Given the description of an element on the screen output the (x, y) to click on. 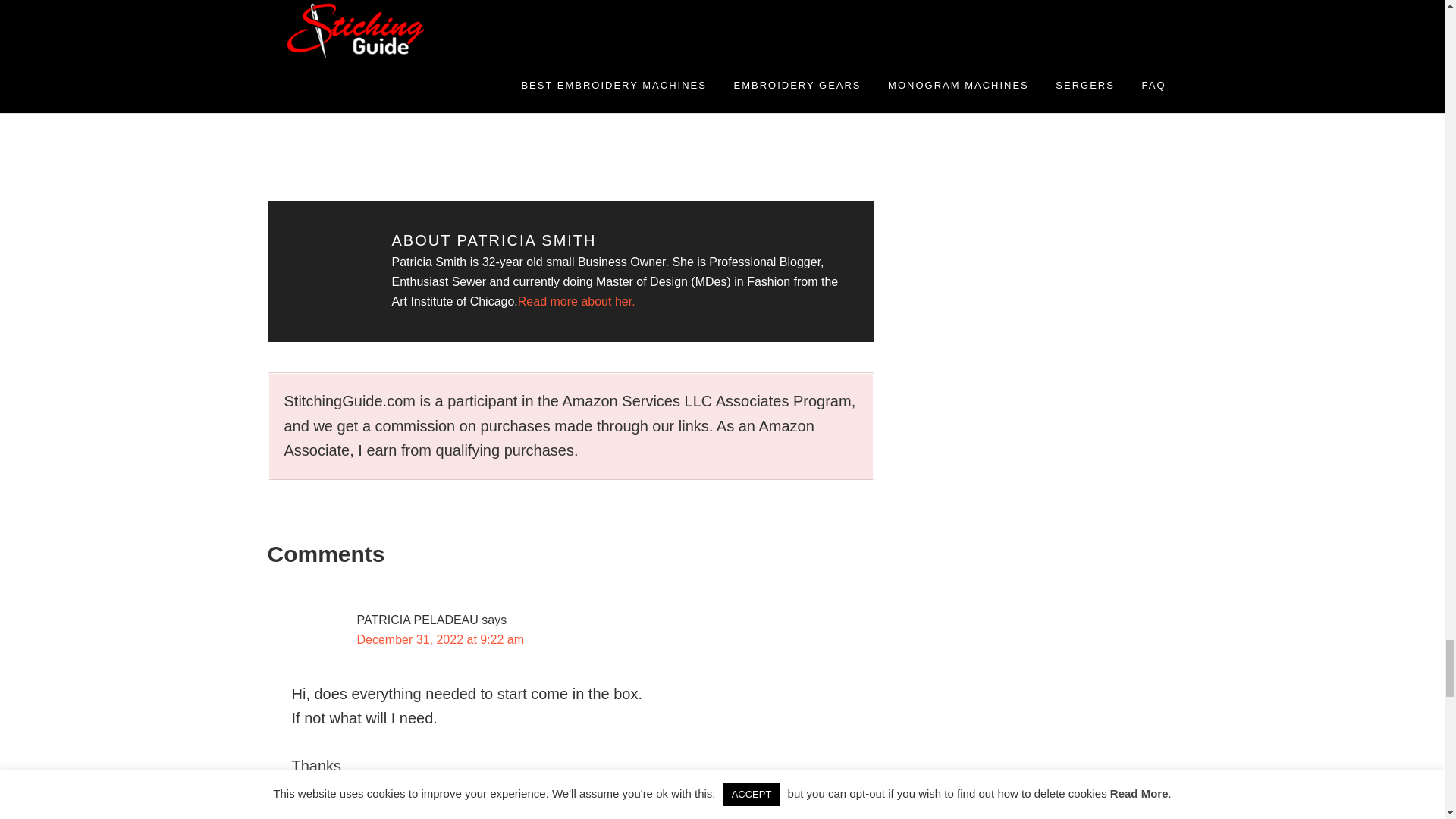
Read more about her. (576, 300)
visit Amazon for the brother SE1900 sale (511, 17)
December 31, 2022 at 9:22 am (440, 639)
Reply (310, 811)
